Given the description of an element on the screen output the (x, y) to click on. 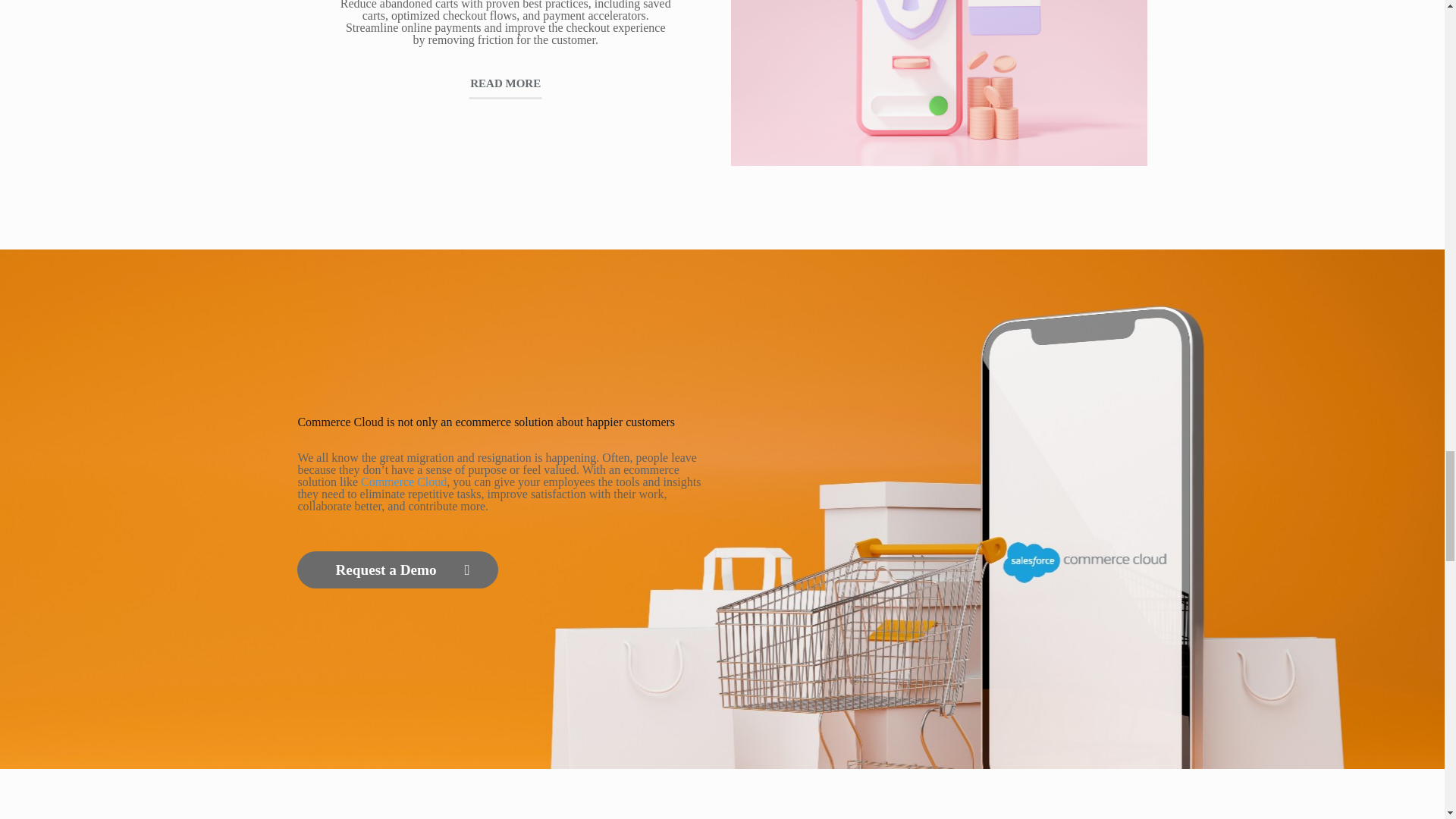
Commerce Cloud (403, 481)
READ MORE (505, 82)
Request a Demo (397, 569)
